Given the description of an element on the screen output the (x, y) to click on. 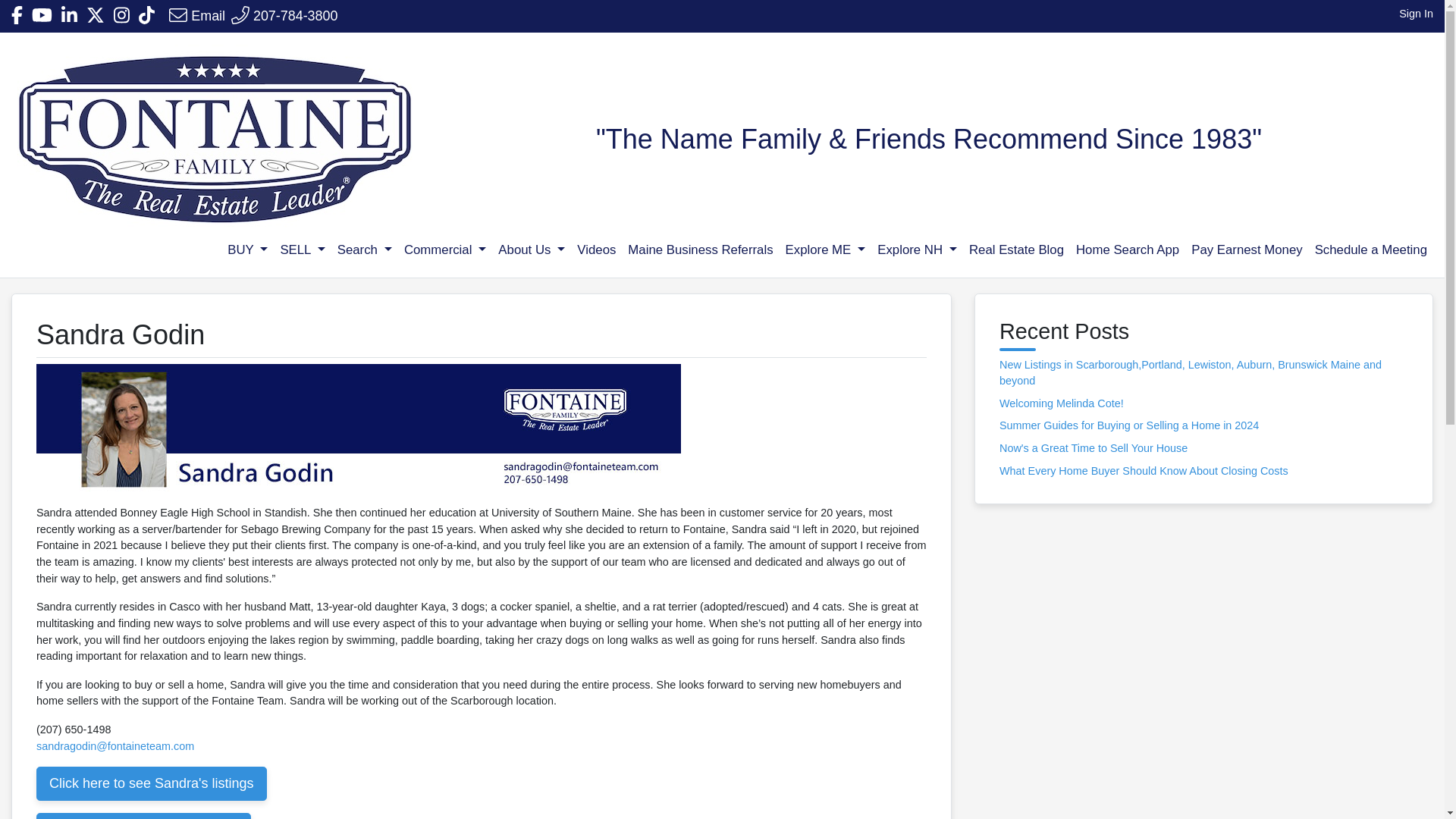
Search (364, 249)
Email (196, 15)
SELL (301, 249)
207-784-3800 (284, 15)
Sign In (1415, 13)
BUY (247, 249)
